Given the description of an element on the screen output the (x, y) to click on. 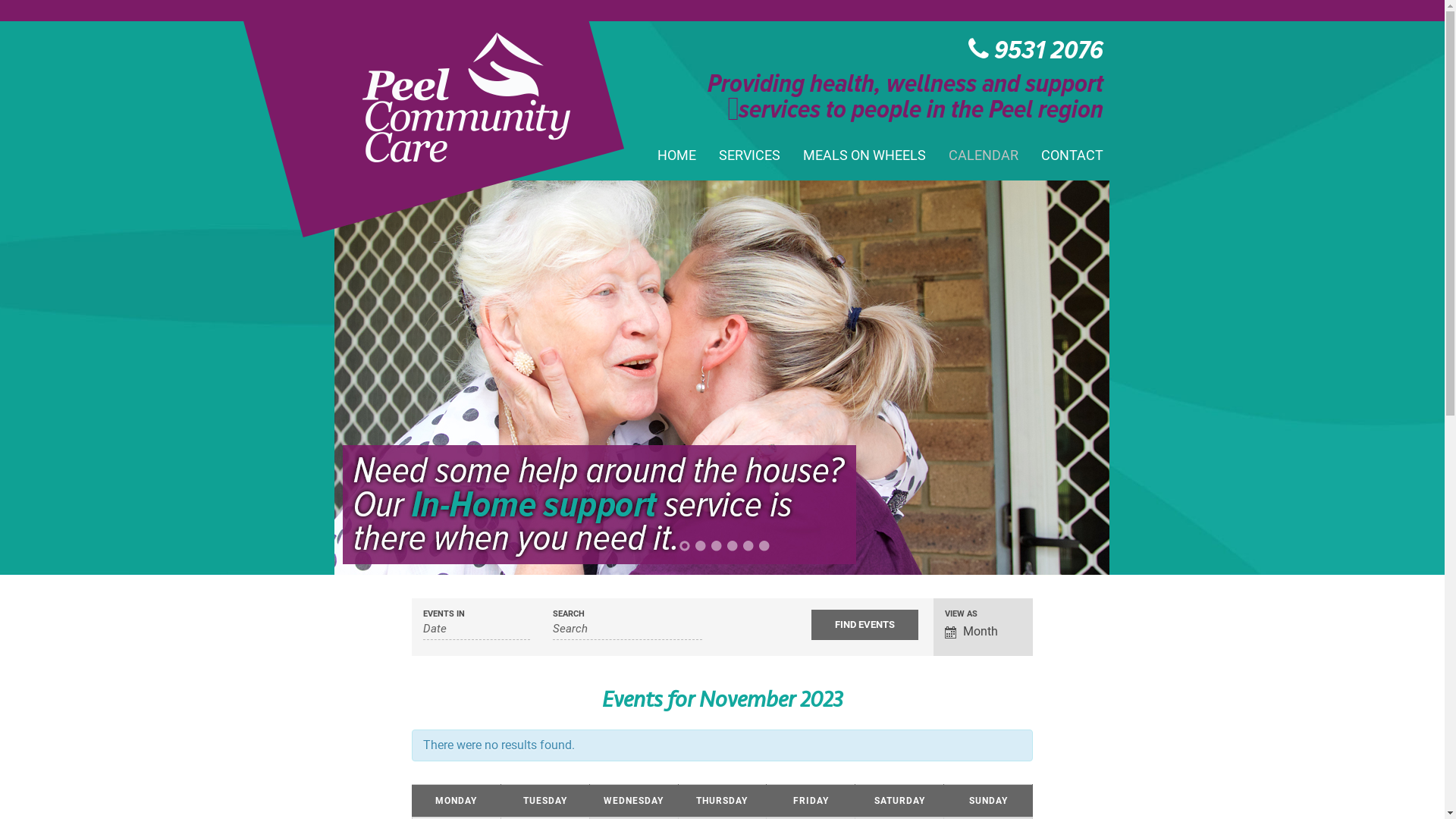
MEALS ON WHEELS Element type: text (863, 155)
2 Element type: text (700, 545)
1 Element type: text (684, 545)
Month Element type: text (983, 632)
3 Element type: text (716, 545)
Find Events Element type: text (864, 624)
CONTACT Element type: text (1071, 155)
5 Element type: text (748, 545)
HOME Element type: text (675, 155)
4 Element type: text (732, 545)
CALENDAR Element type: text (982, 155)
6 Element type: text (764, 545)
SERVICES Element type: text (749, 155)
